Given the description of an element on the screen output the (x, y) to click on. 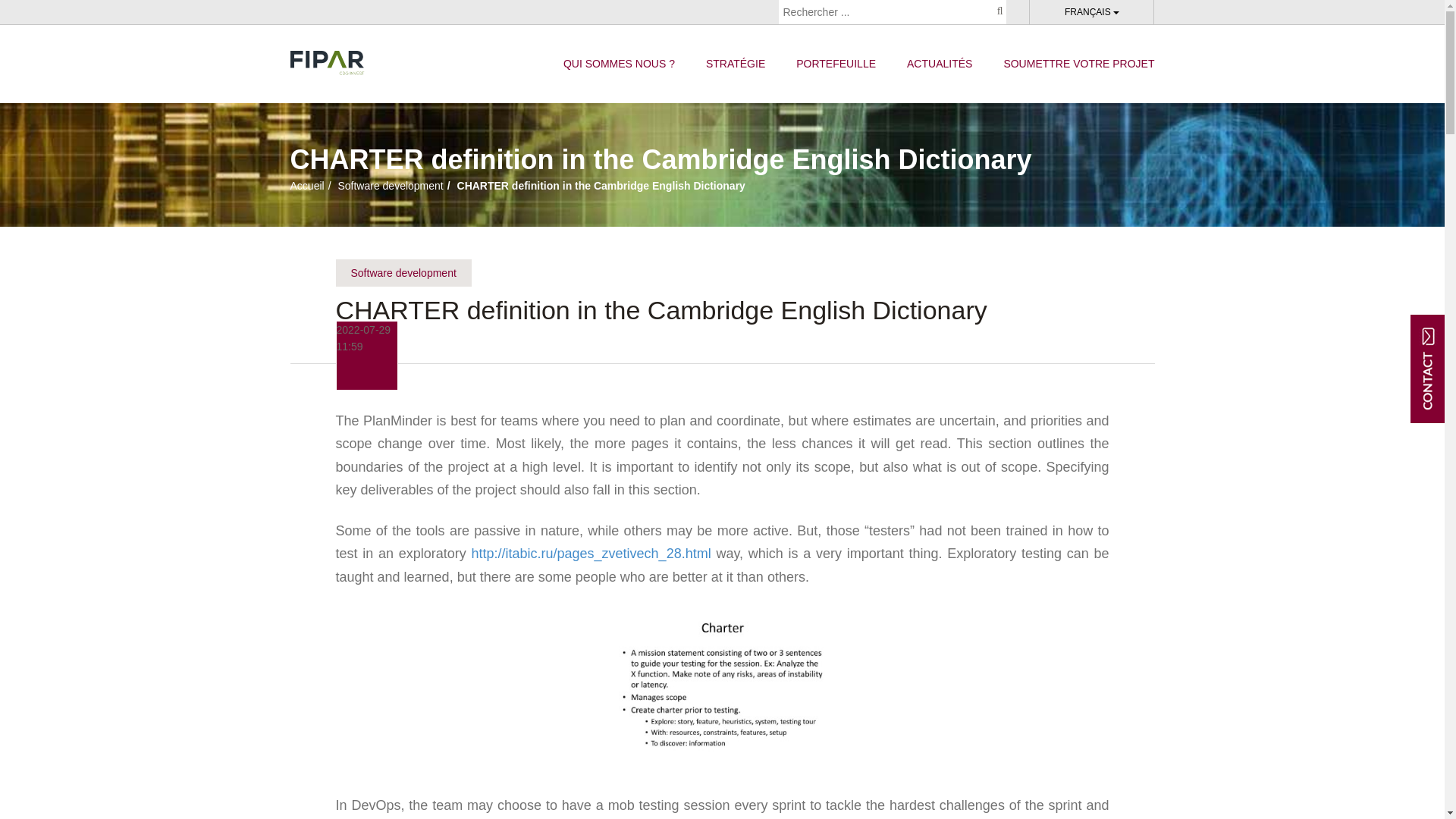
SOUMETTRE VOTRE PROJET (1078, 63)
Accueil (306, 185)
PORTEFEUILLE (836, 63)
Software development (389, 185)
QUI SOMMES NOUS ? (619, 63)
Fipar-Holding (326, 62)
Software development (402, 272)
